Given the description of an element on the screen output the (x, y) to click on. 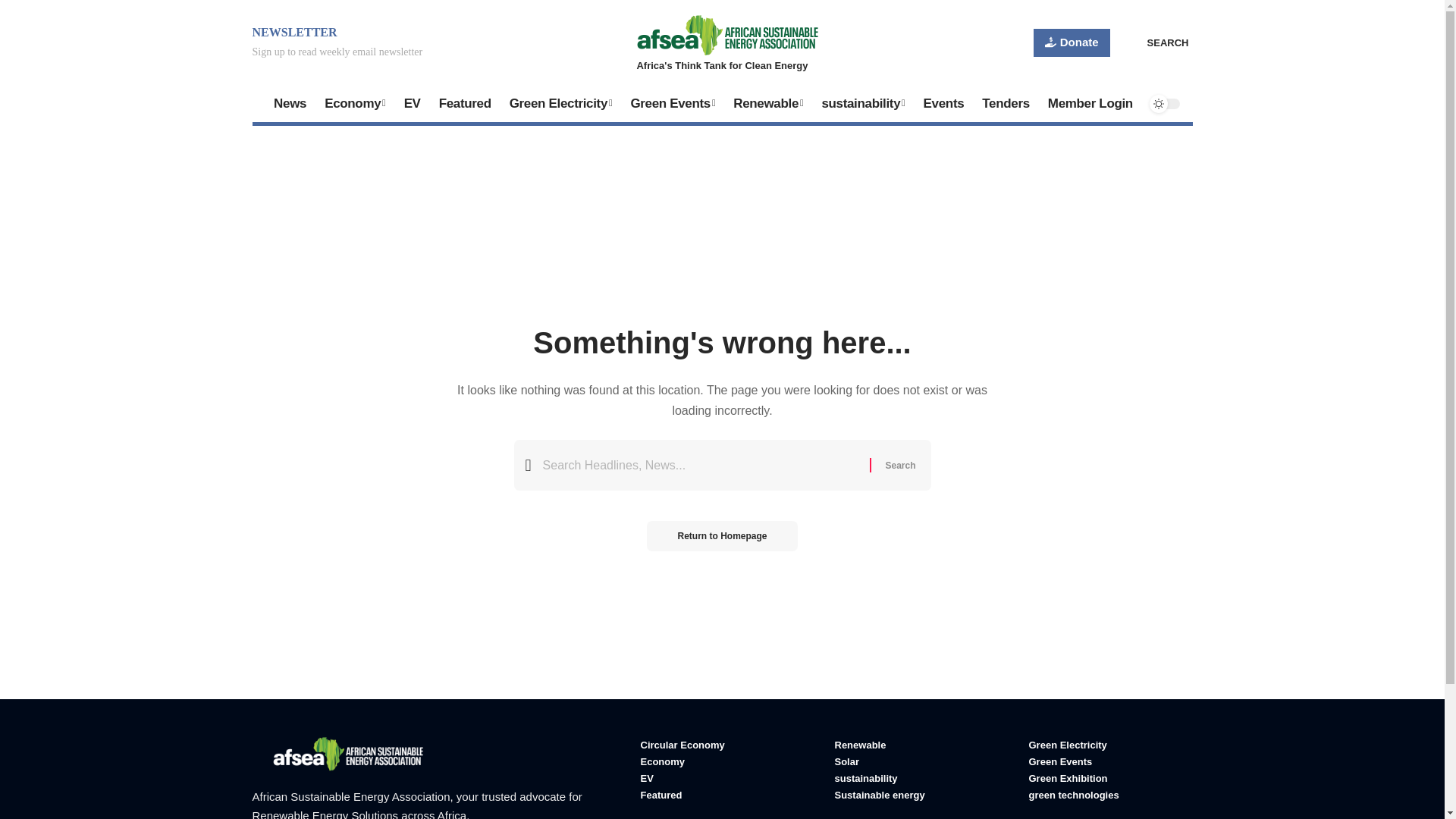
Featured (464, 103)
sustainability (863, 103)
SEARCH (1157, 43)
Donate (1071, 42)
Green Events (672, 103)
Green Electricity (560, 103)
Member Login (1090, 103)
NEWSLETTER (293, 31)
Search (899, 464)
Renewable (767, 103)
